Given the description of an element on the screen output the (x, y) to click on. 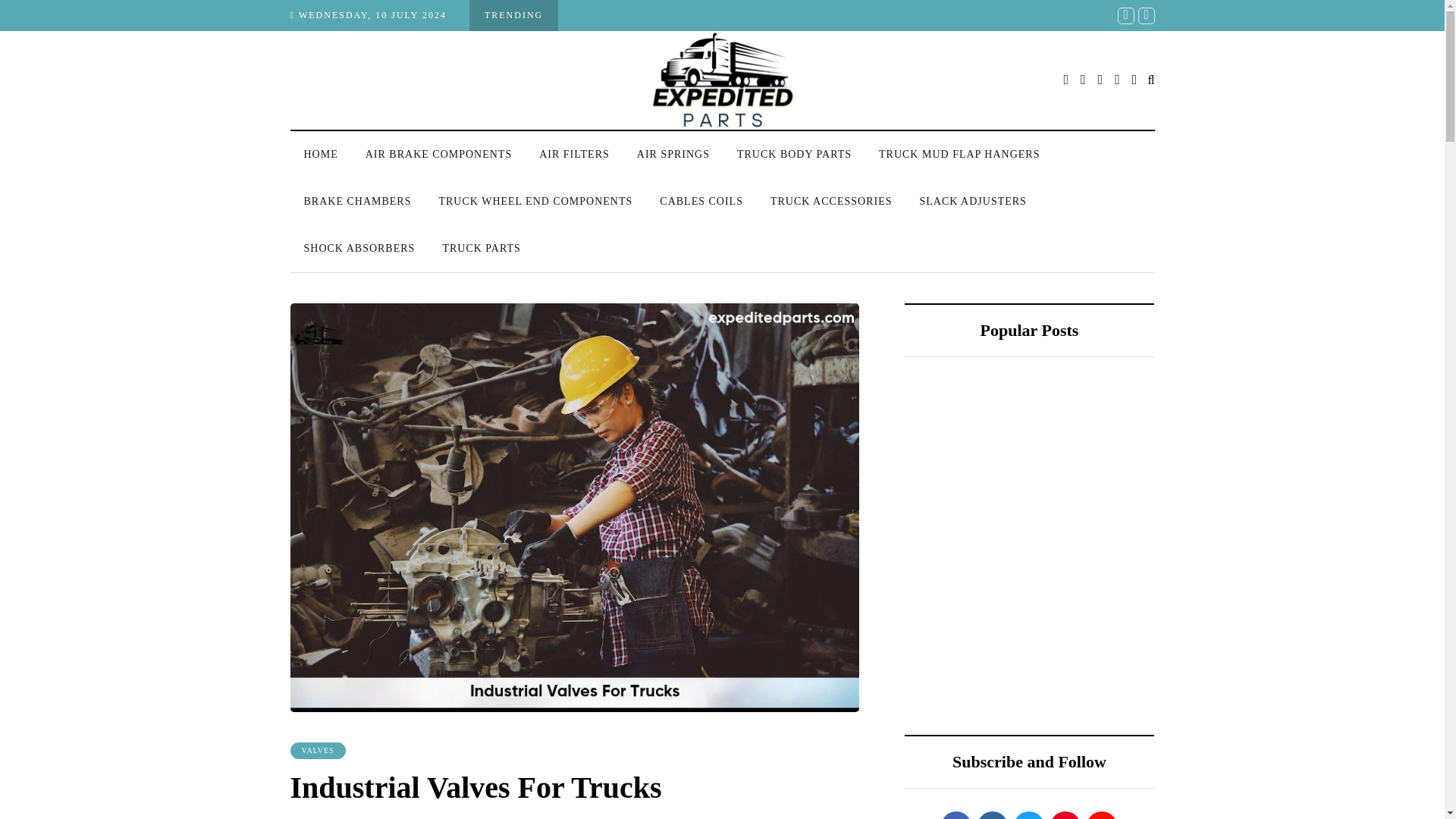
TRUCK BODY PARTS (793, 154)
AIR BRAKE COMPONENTS (438, 154)
BRAKE CHAMBERS (357, 201)
HOME (319, 154)
AIR FILTERS (574, 154)
TRUCK MUD FLAP HANGERS (958, 154)
AIR SPRINGS (673, 154)
